Given the description of an element on the screen output the (x, y) to click on. 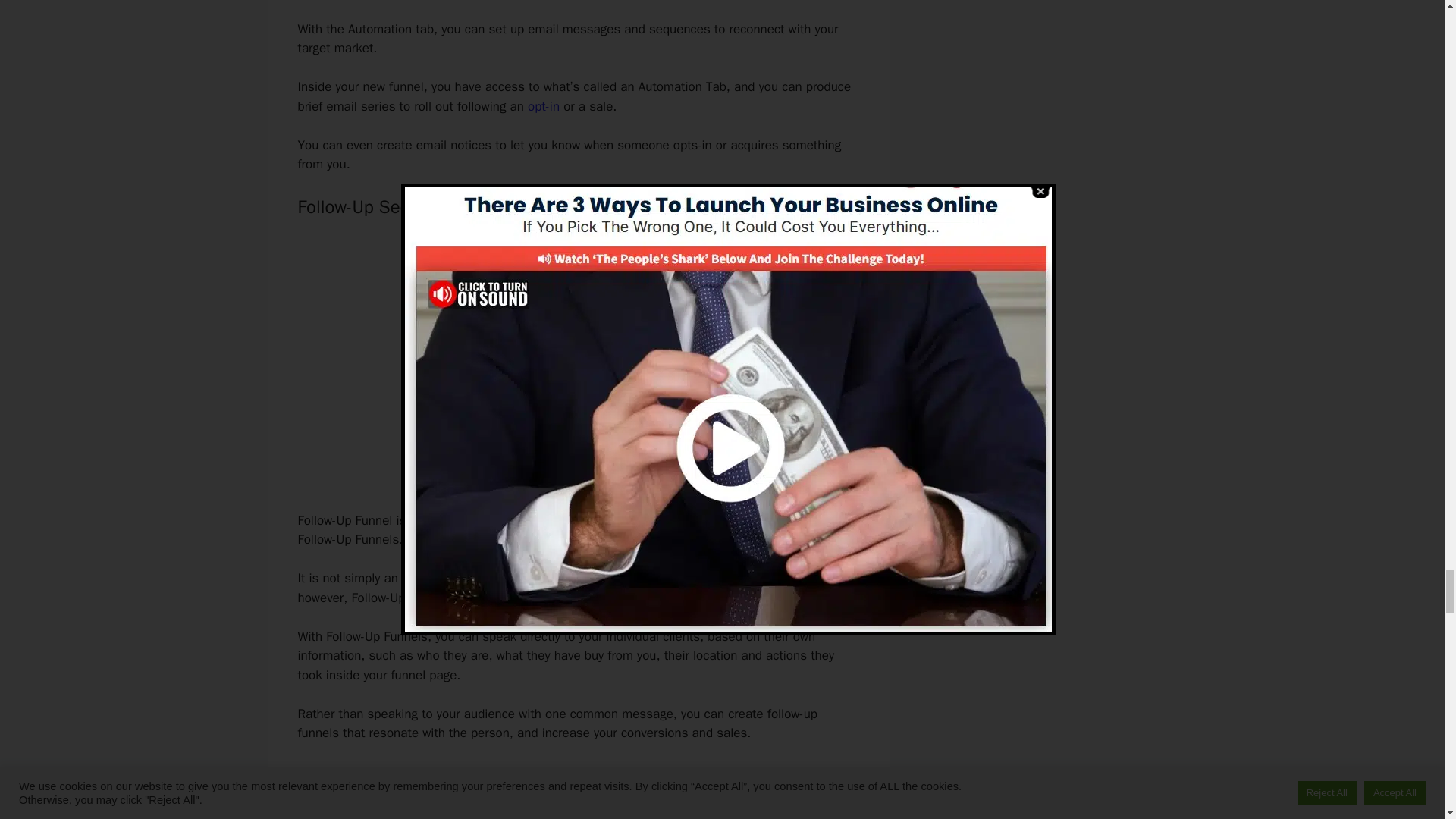
opt-in (543, 106)
email (766, 578)
